Given the description of an element on the screen output the (x, y) to click on. 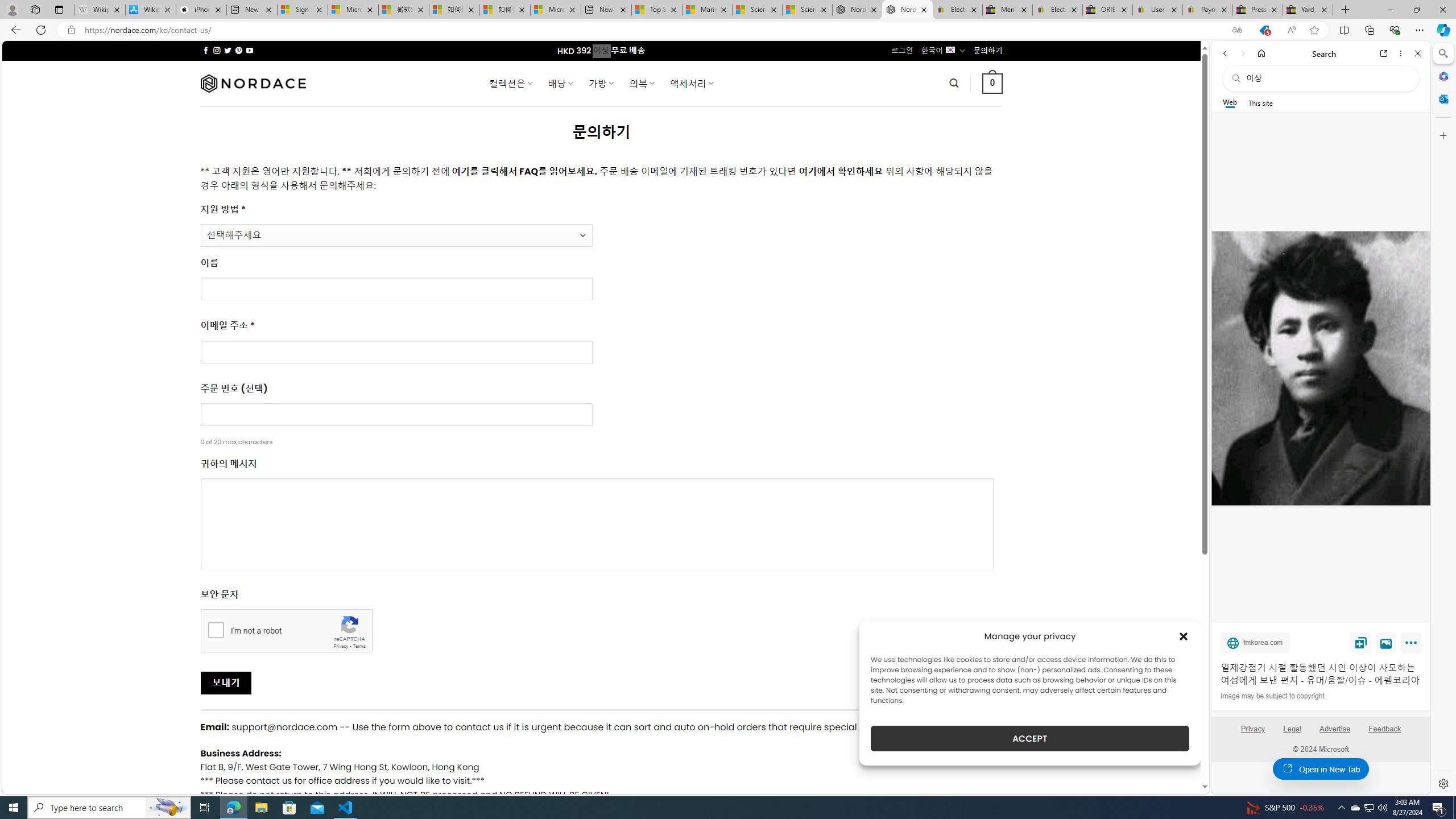
Open link in new tab (1383, 53)
Sign in to your Microsoft account (302, 9)
